Given the description of an element on the screen output the (x, y) to click on. 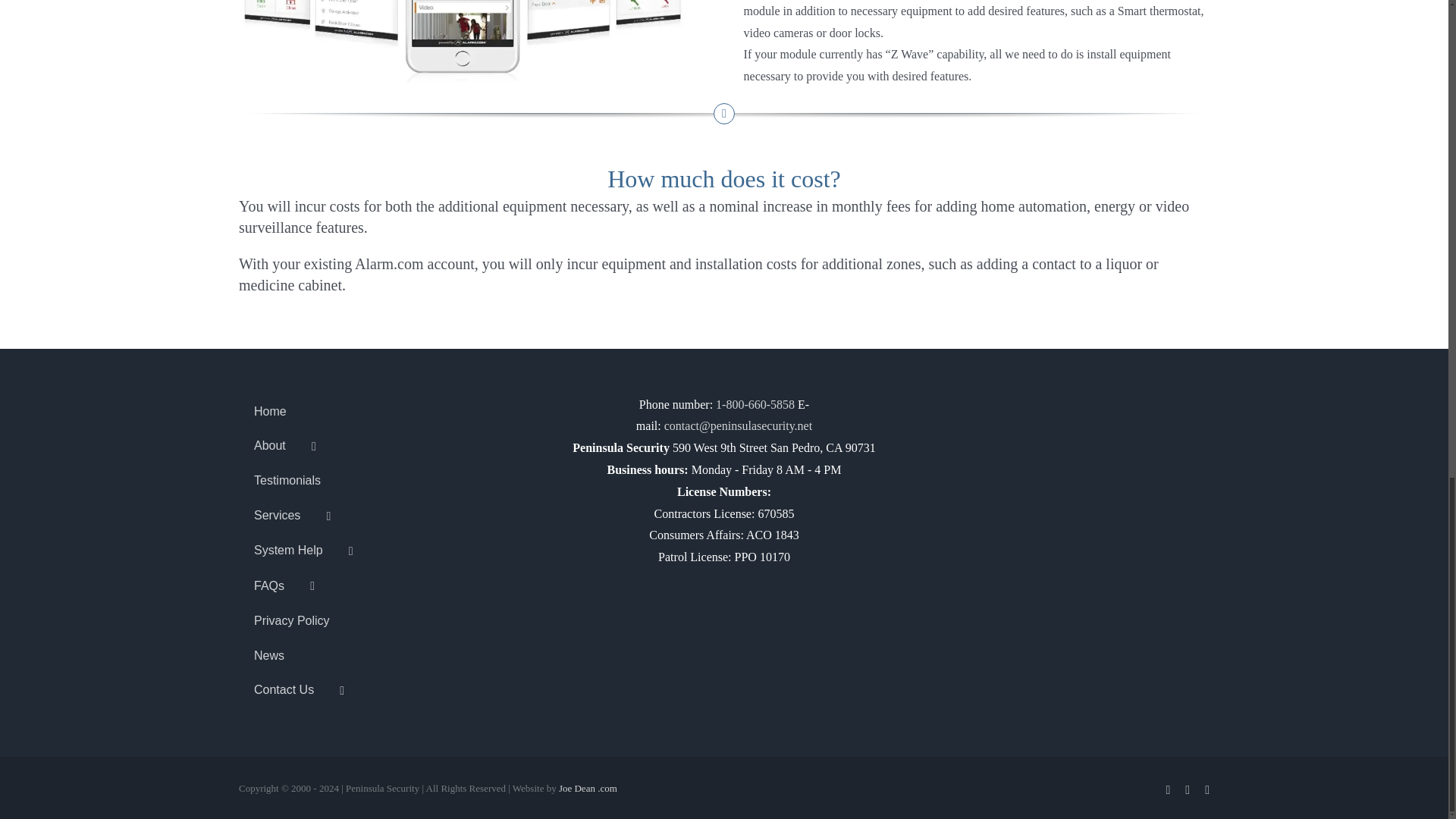
Email Peninsula Security (737, 425)
existing-iphone-screens (466, 41)
Home (391, 411)
